Given the description of an element on the screen output the (x, y) to click on. 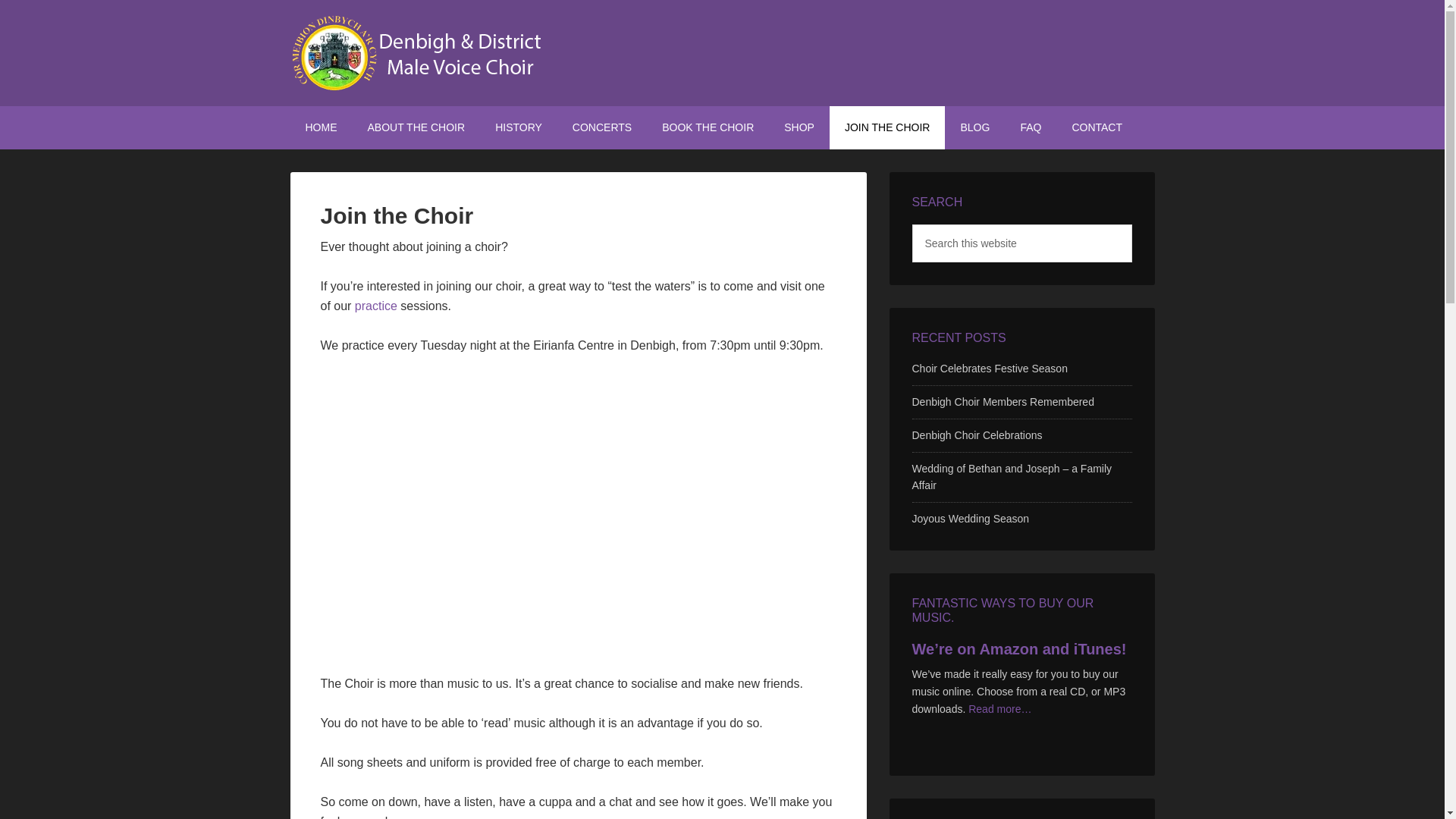
FAQ (1030, 127)
Denbigh Choir Celebrations (976, 435)
BLOG (974, 127)
CONCERTS (601, 127)
practice (376, 305)
JOIN THE CHOIR (886, 127)
HISTORY (518, 127)
SHOP (798, 127)
Choir Celebrates Festive Season (989, 368)
ABOUT THE CHOIR (416, 127)
